Given the description of an element on the screen output the (x, y) to click on. 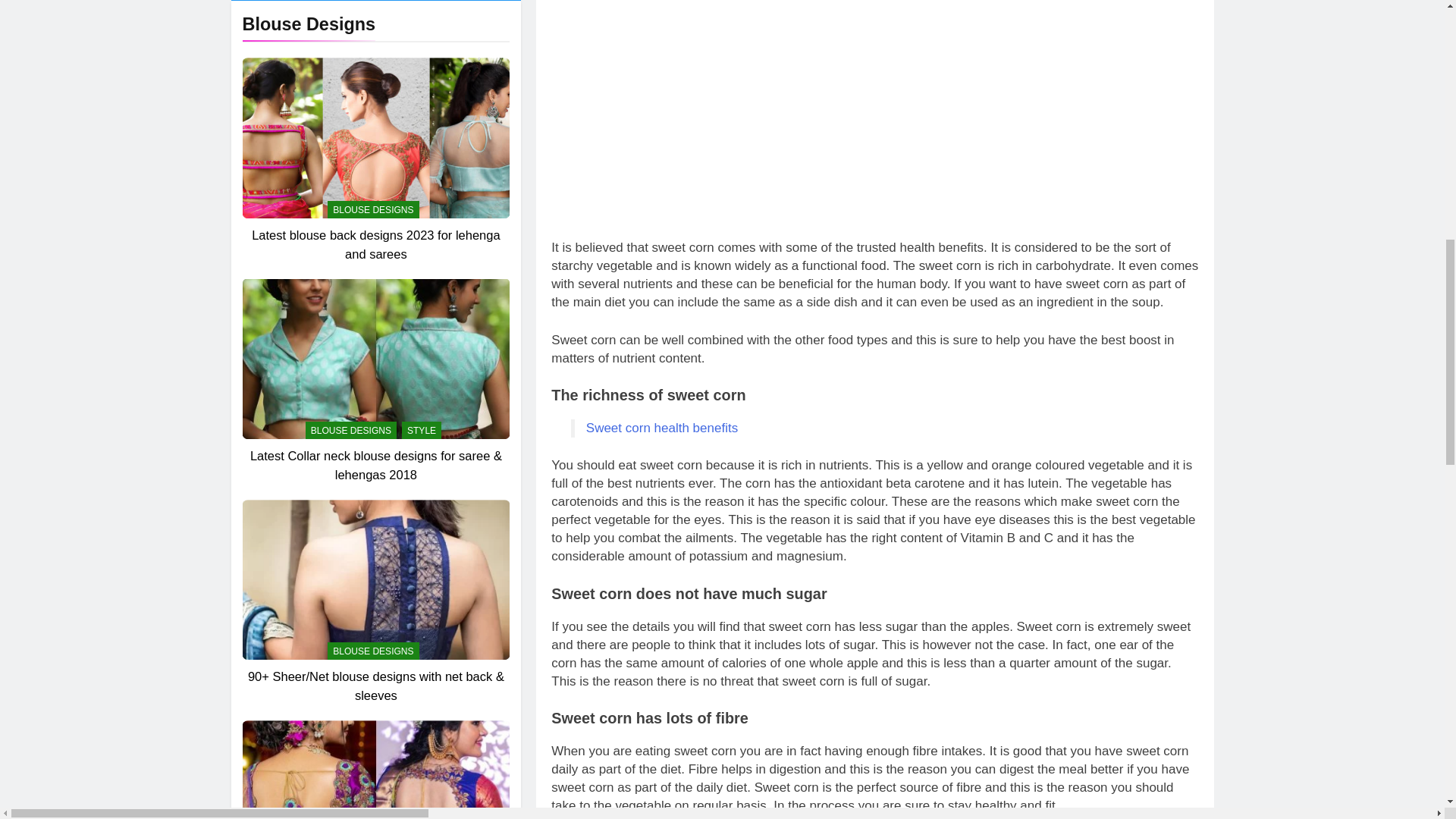
Latest maggam work blouse designs catalog (375, 345)
Sweet corn health benefits (662, 427)
BLOUSE DESIGNS (373, 99)
BLOUSE DESIGNS (373, 320)
